Given the description of an element on the screen output the (x, y) to click on. 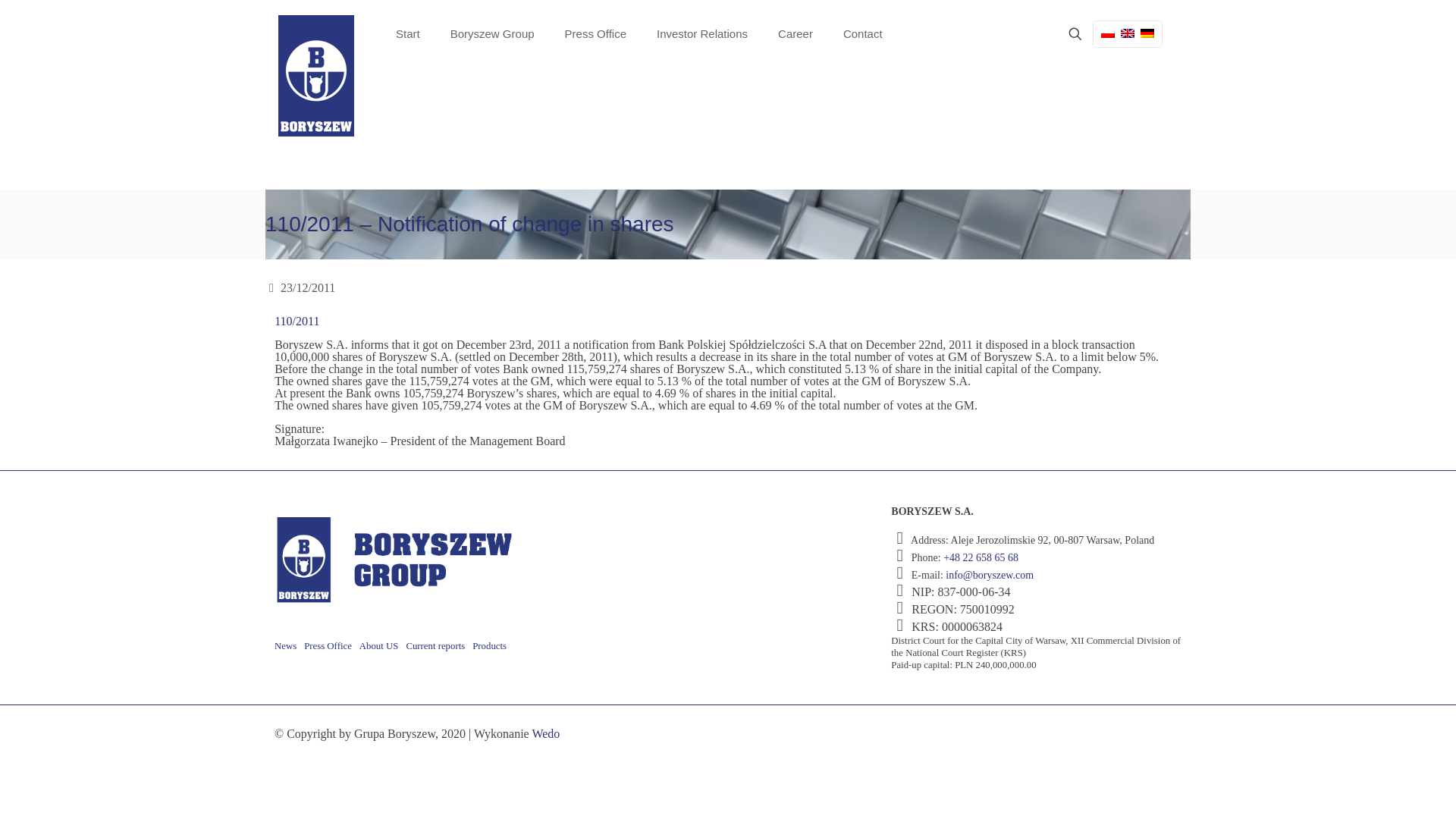
Boryszew Group (492, 33)
Investor Relations (702, 33)
Press Office (596, 33)
